Given the description of an element on the screen output the (x, y) to click on. 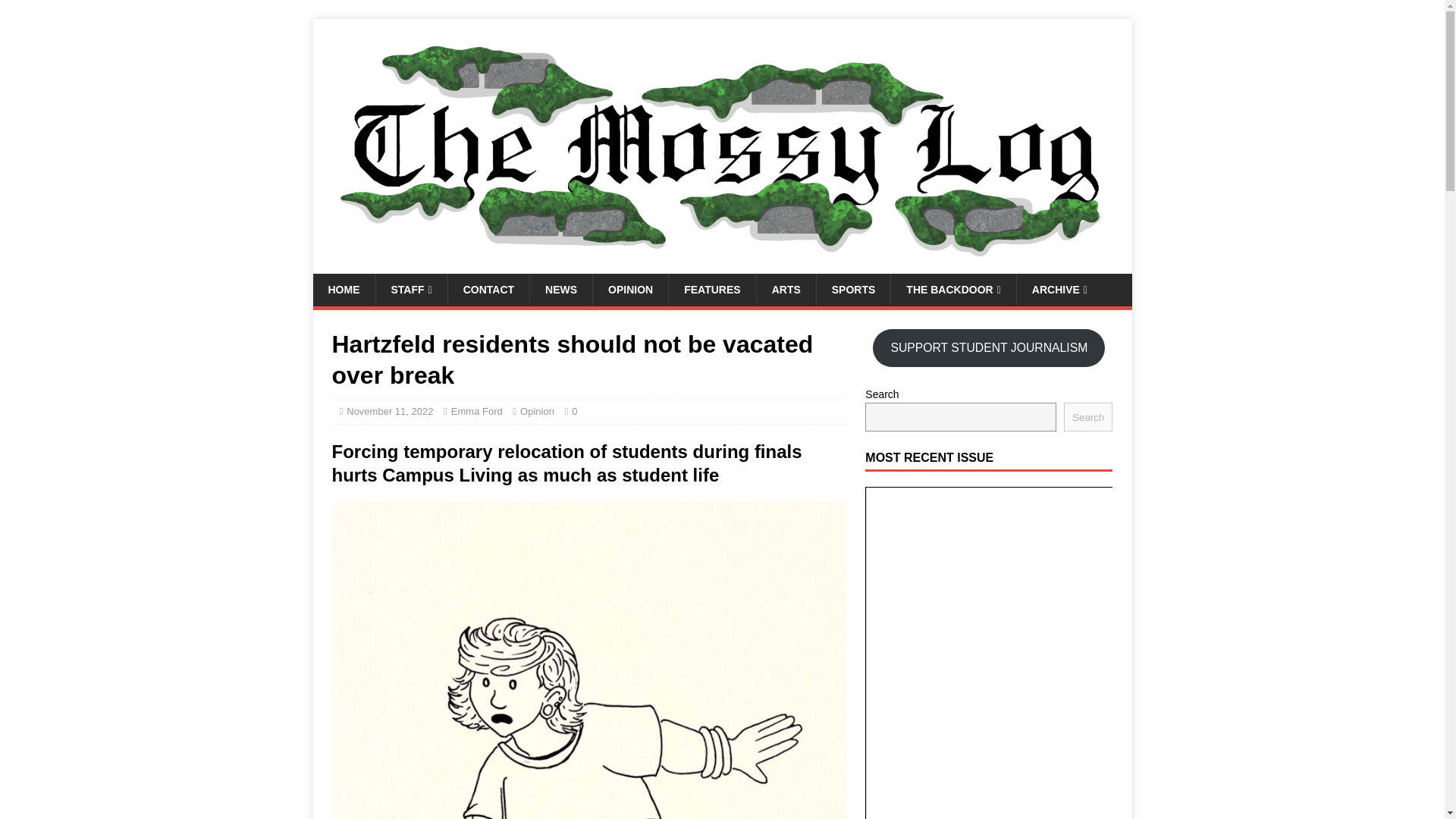
November 11, 2022 (389, 410)
ARTS (785, 289)
ARCHIVE (1059, 289)
NEWS (560, 289)
CONTACT (487, 289)
Emma Ford (476, 410)
Opinion (536, 410)
SPORTS (853, 289)
STAFF (410, 289)
HOME (343, 289)
OPINION (630, 289)
0 (574, 410)
0 (574, 410)
THE BACKDOOR (951, 289)
FEATURES (711, 289)
